Given the description of an element on the screen output the (x, y) to click on. 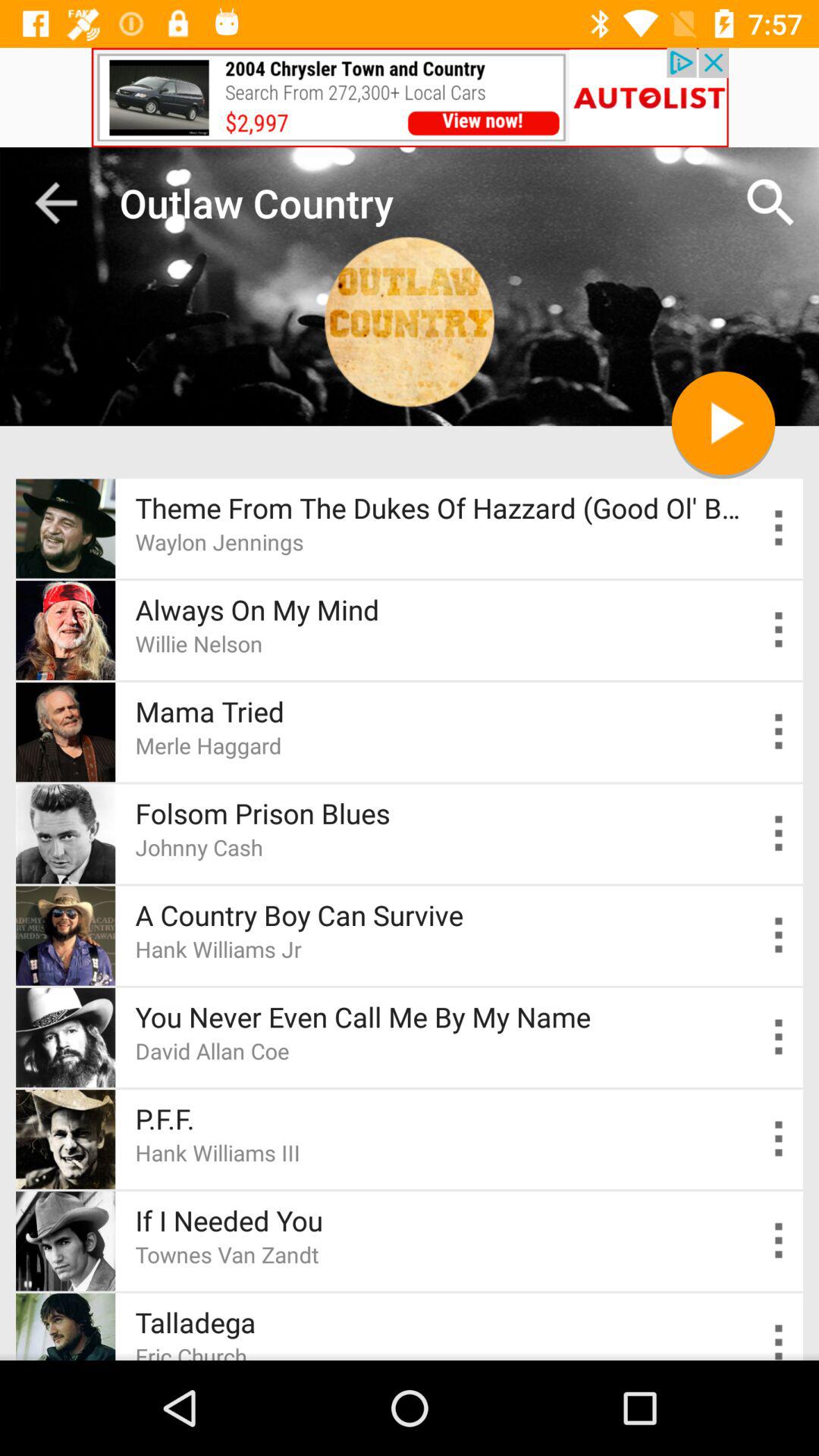
more info (779, 1139)
